Given the description of an element on the screen output the (x, y) to click on. 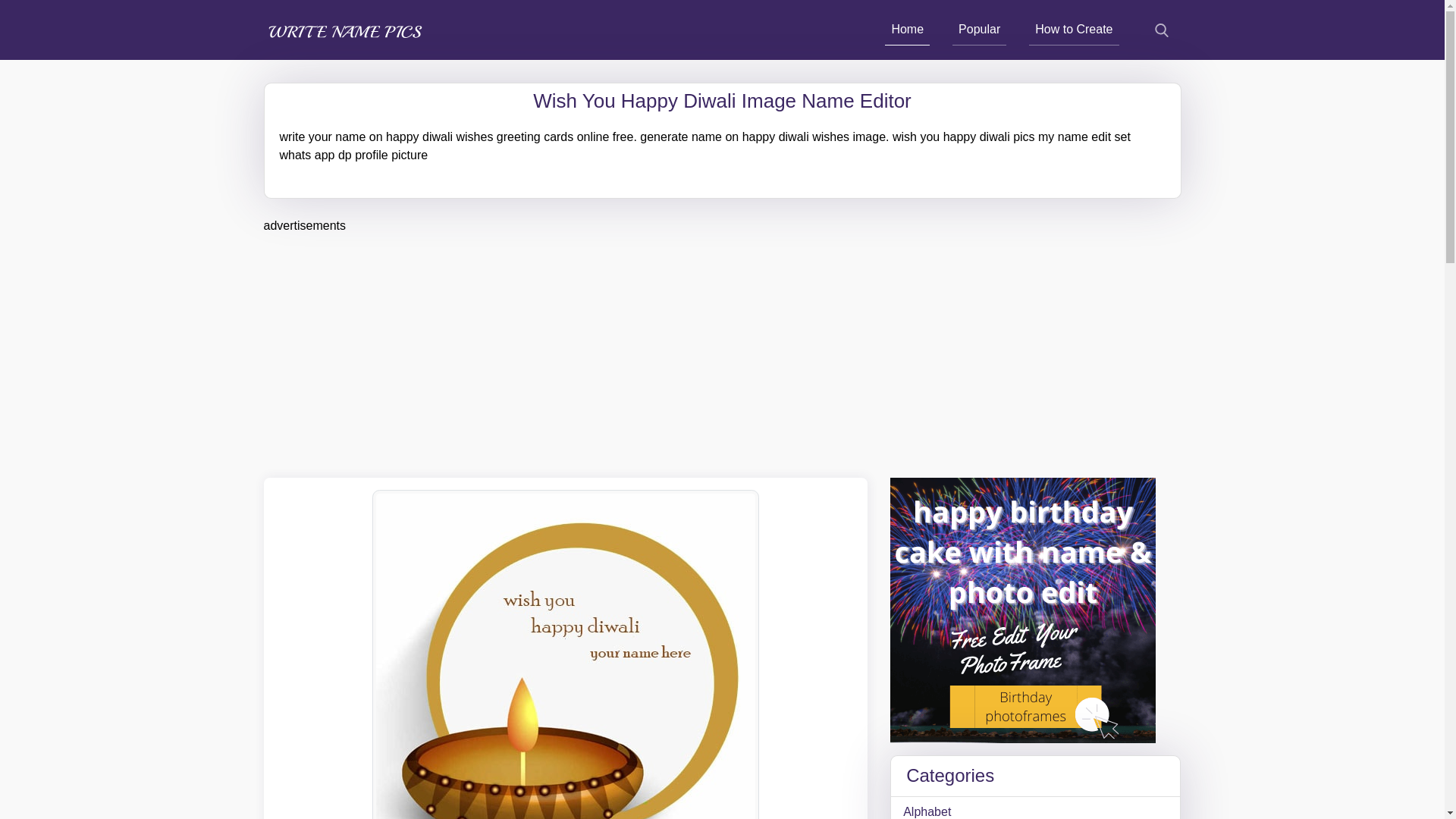
Home (907, 29)
How to Create (1073, 29)
Popular (979, 29)
Alphabet (1034, 811)
wish you happy diwali image name editor (565, 654)
